Given the description of an element on the screen output the (x, y) to click on. 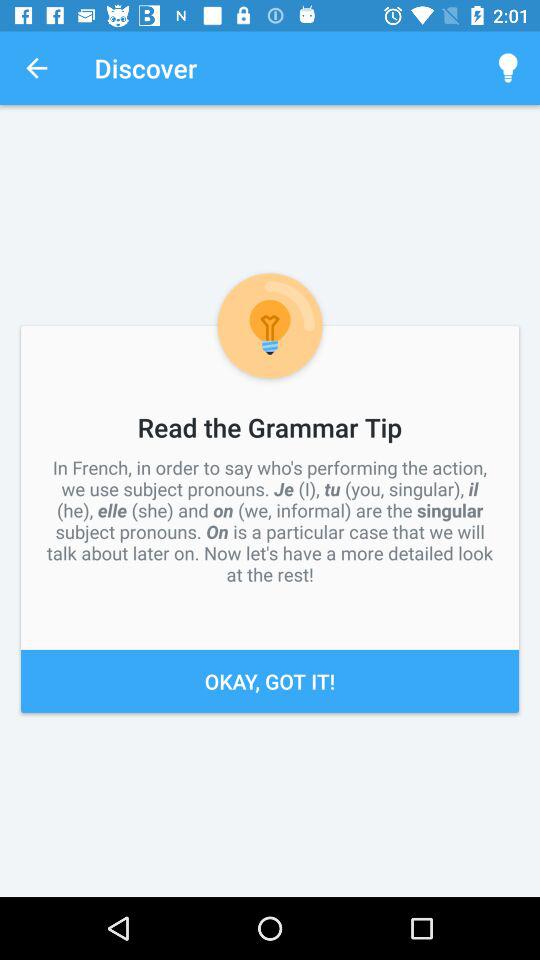
scroll to the okay, got it! item (270, 680)
